Given the description of an element on the screen output the (x, y) to click on. 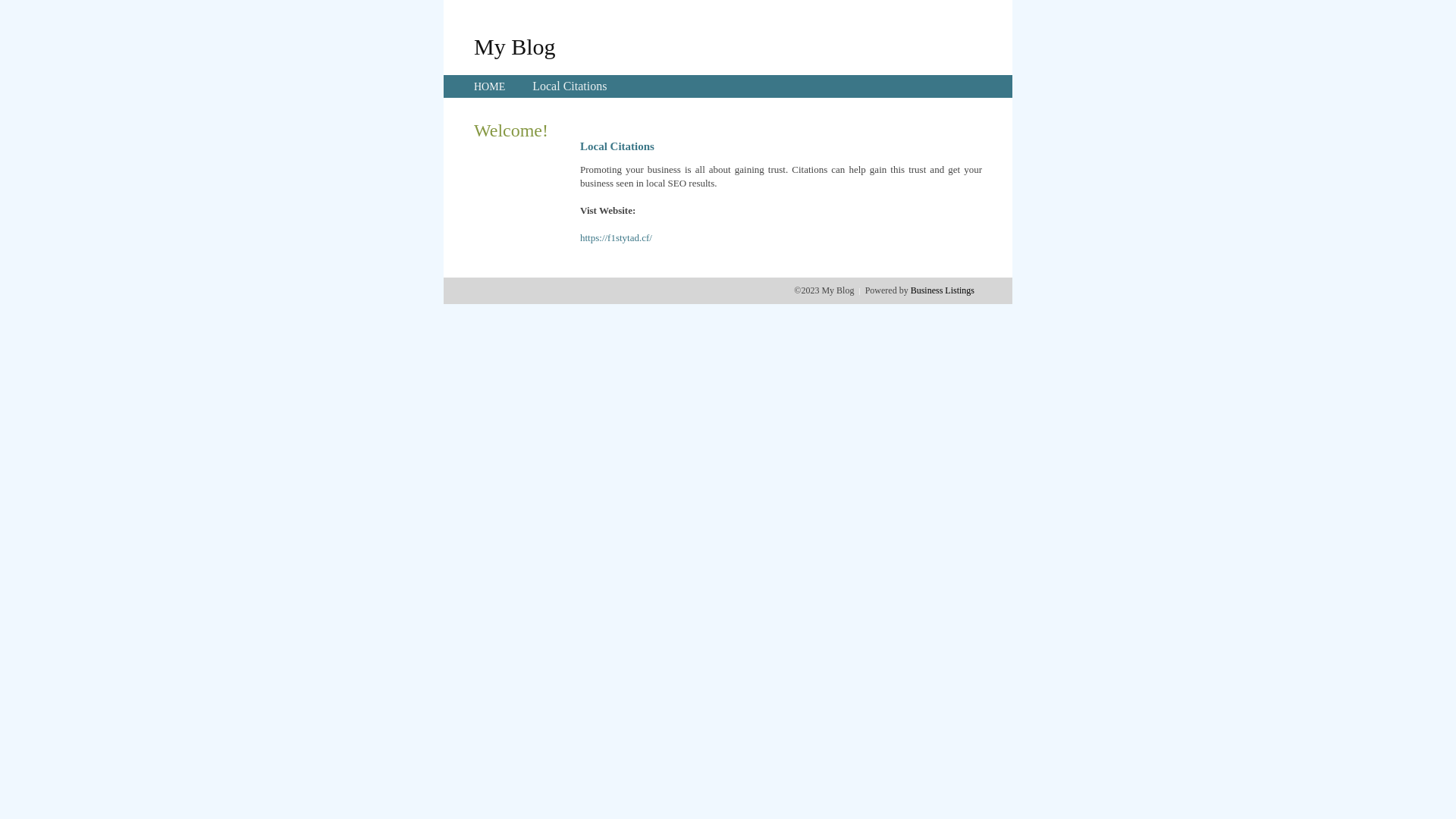
HOME Element type: text (489, 86)
Local Citations Element type: text (569, 85)
https://f1stytad.cf/ Element type: text (616, 237)
My Blog Element type: text (514, 46)
Business Listings Element type: text (942, 290)
